Given the description of an element on the screen output the (x, y) to click on. 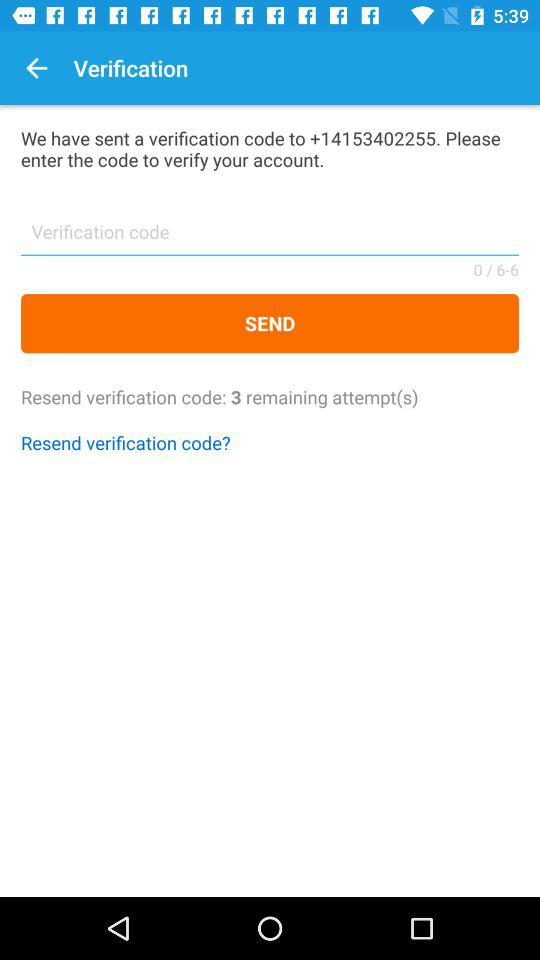
select icon next to the verification item (36, 67)
